Given the description of an element on the screen output the (x, y) to click on. 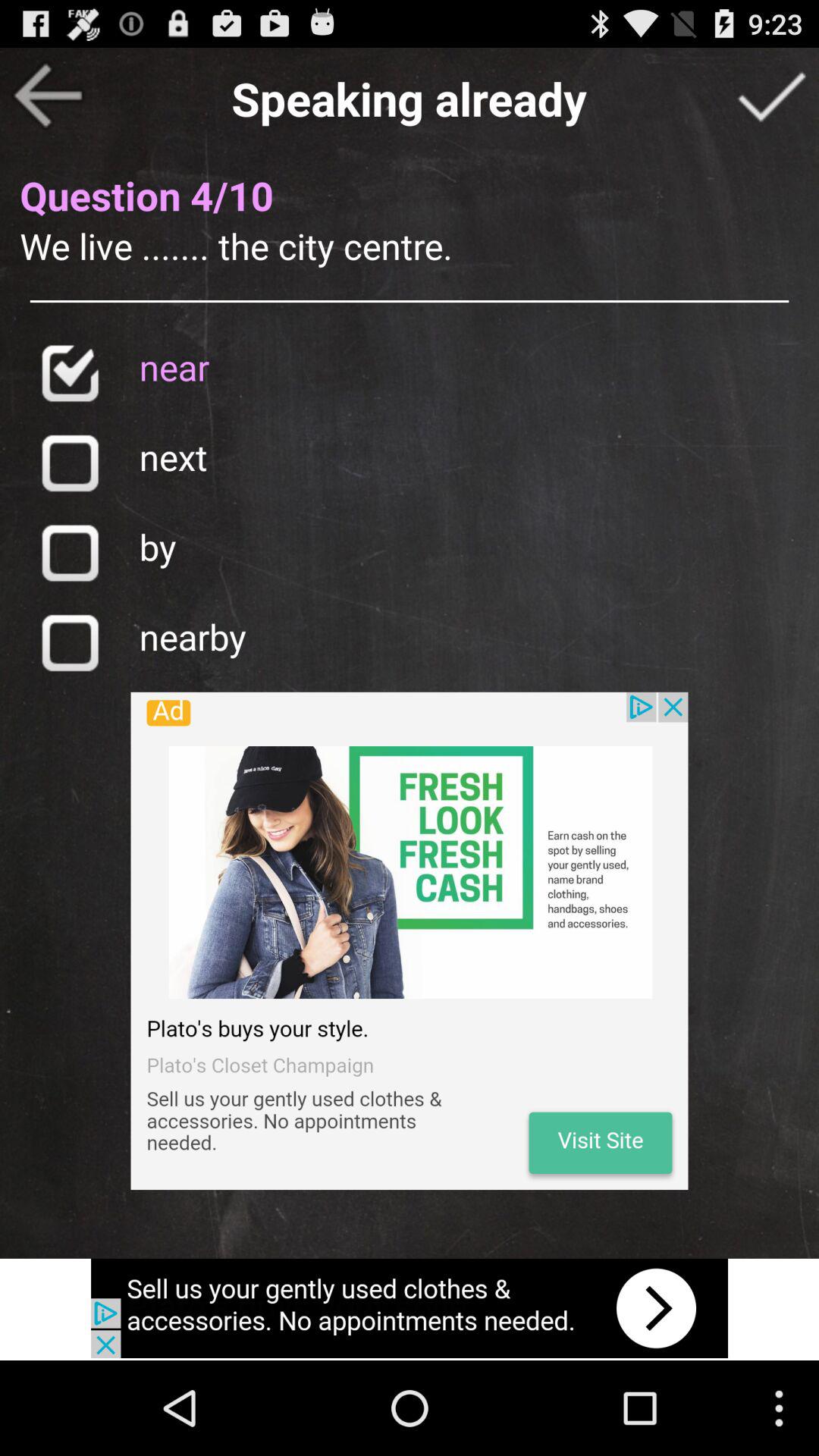
go back (47, 95)
